Given the description of an element on the screen output the (x, y) to click on. 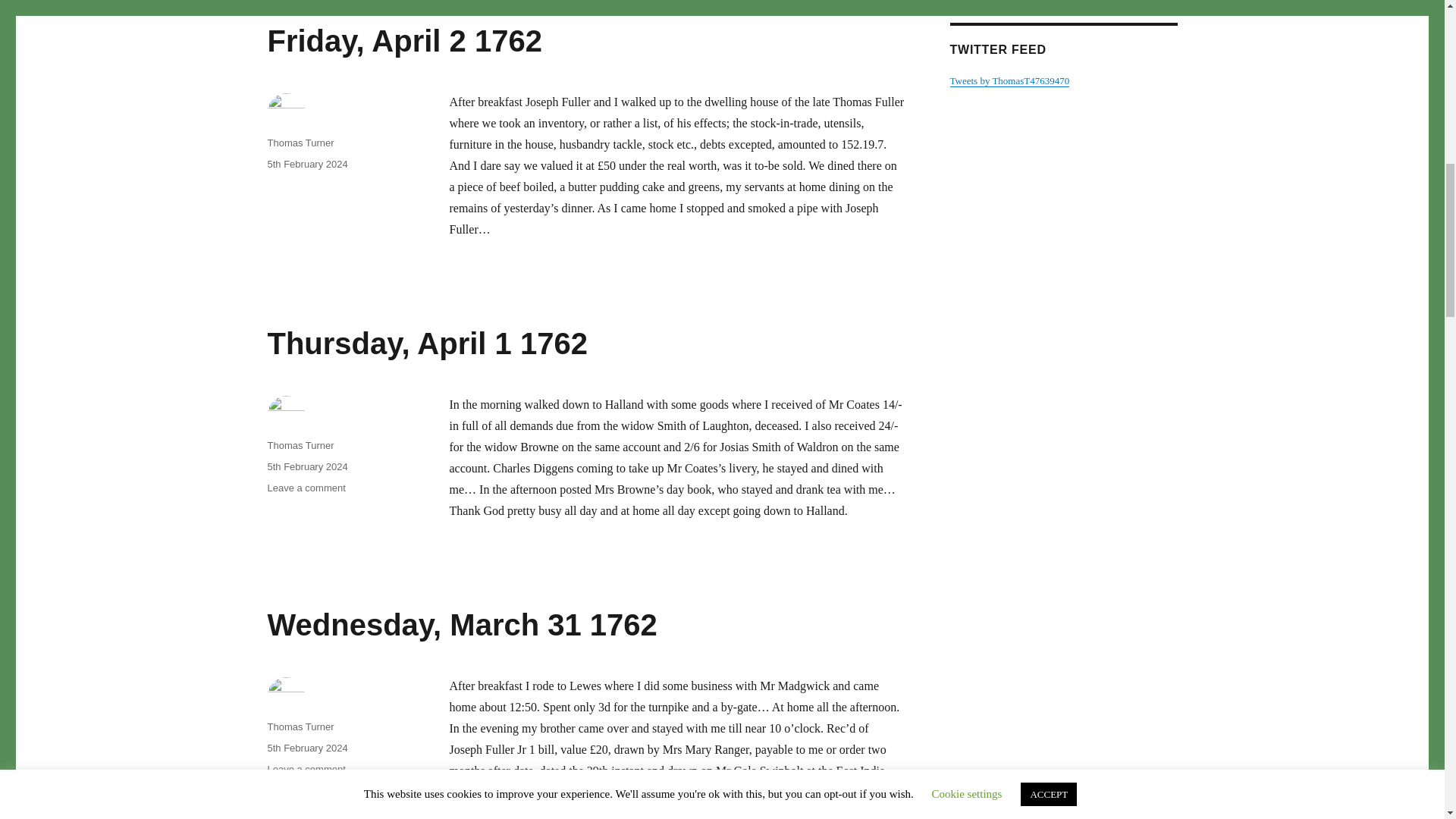
5th February 2024 (305, 487)
5th February 2024 (306, 747)
5th February 2024 (306, 466)
Thomas Turner (305, 768)
Thursday, April 1 1762 (306, 163)
Friday, April 2 1762 (299, 726)
Wednesday, March 31 1762 (426, 343)
Thomas Turner (403, 40)
